Given the description of an element on the screen output the (x, y) to click on. 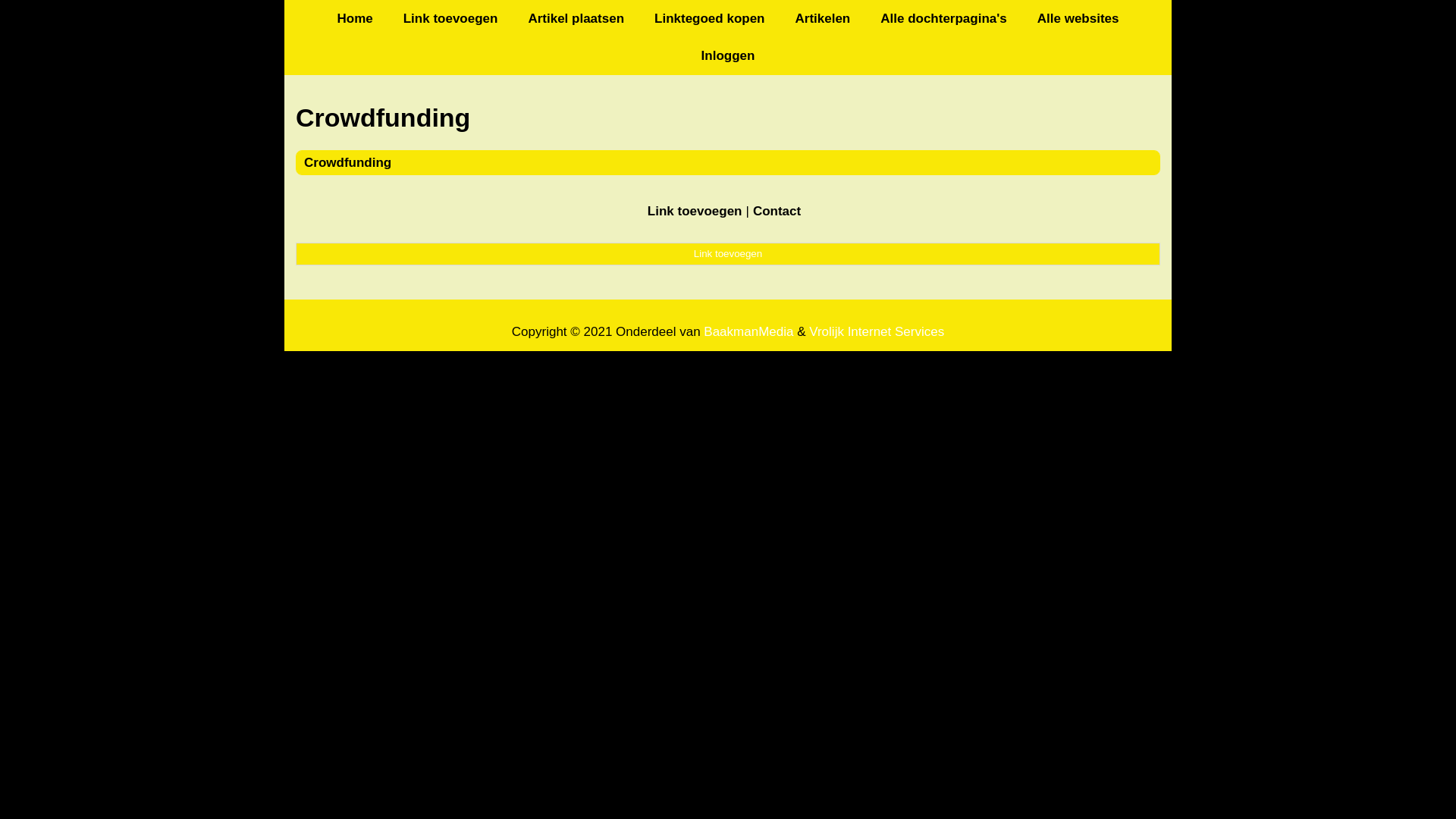
BaakmanMedia Element type: text (748, 331)
Crowdfunding Element type: text (727, 117)
Linktegoed kopen Element type: text (709, 18)
Alle websites Element type: text (1078, 18)
Vrolijk Internet Services Element type: text (876, 331)
Home Element type: text (354, 18)
Link toevoegen Element type: text (727, 253)
Alle dochterpagina's Element type: text (943, 18)
Link toevoegen Element type: text (694, 210)
Artikel plaatsen Element type: text (575, 18)
Inloggen Element type: text (728, 55)
Artikelen Element type: text (822, 18)
Contact Element type: text (776, 210)
Crowdfunding Element type: text (347, 162)
Link toevoegen Element type: text (450, 18)
